Given the description of an element on the screen output the (x, y) to click on. 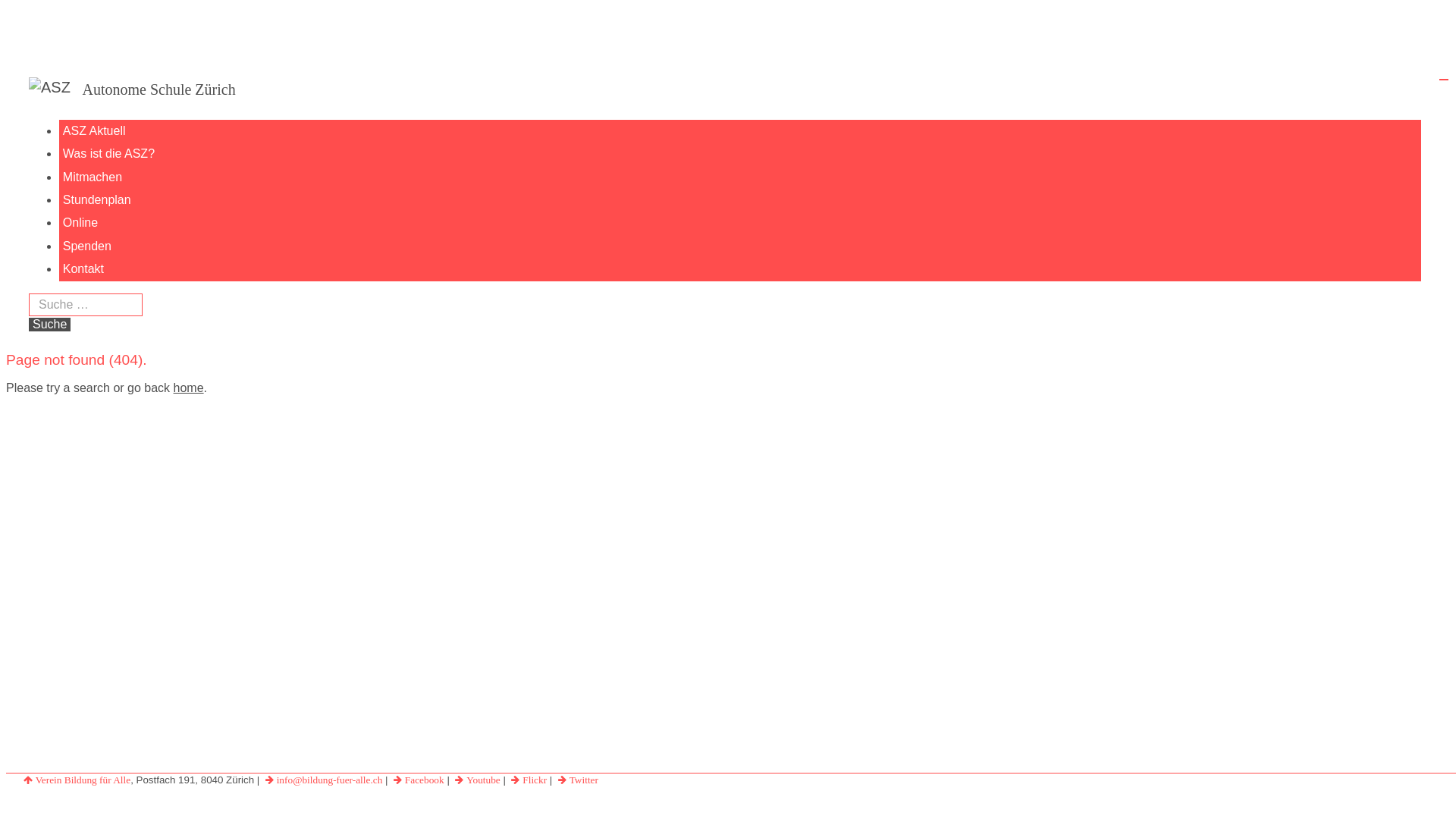
Facebook Element type: text (416, 779)
ASZ Aktuell Element type: text (740, 130)
Was ist die ASZ? Element type: text (740, 153)
Stundenplan Element type: text (740, 199)
home Element type: text (188, 387)
Kontakt Element type: text (740, 268)
Flickr Element type: text (527, 779)
Online Element type: text (740, 223)
Spenden Element type: text (740, 246)
Mitmachen Element type: text (740, 177)
info@bildung-fuer-alle.ch Element type: text (322, 779)
Twitter Element type: text (576, 779)
Youtube Element type: text (476, 779)
Suche Element type: text (49, 323)
